Given the description of an element on the screen output the (x, y) to click on. 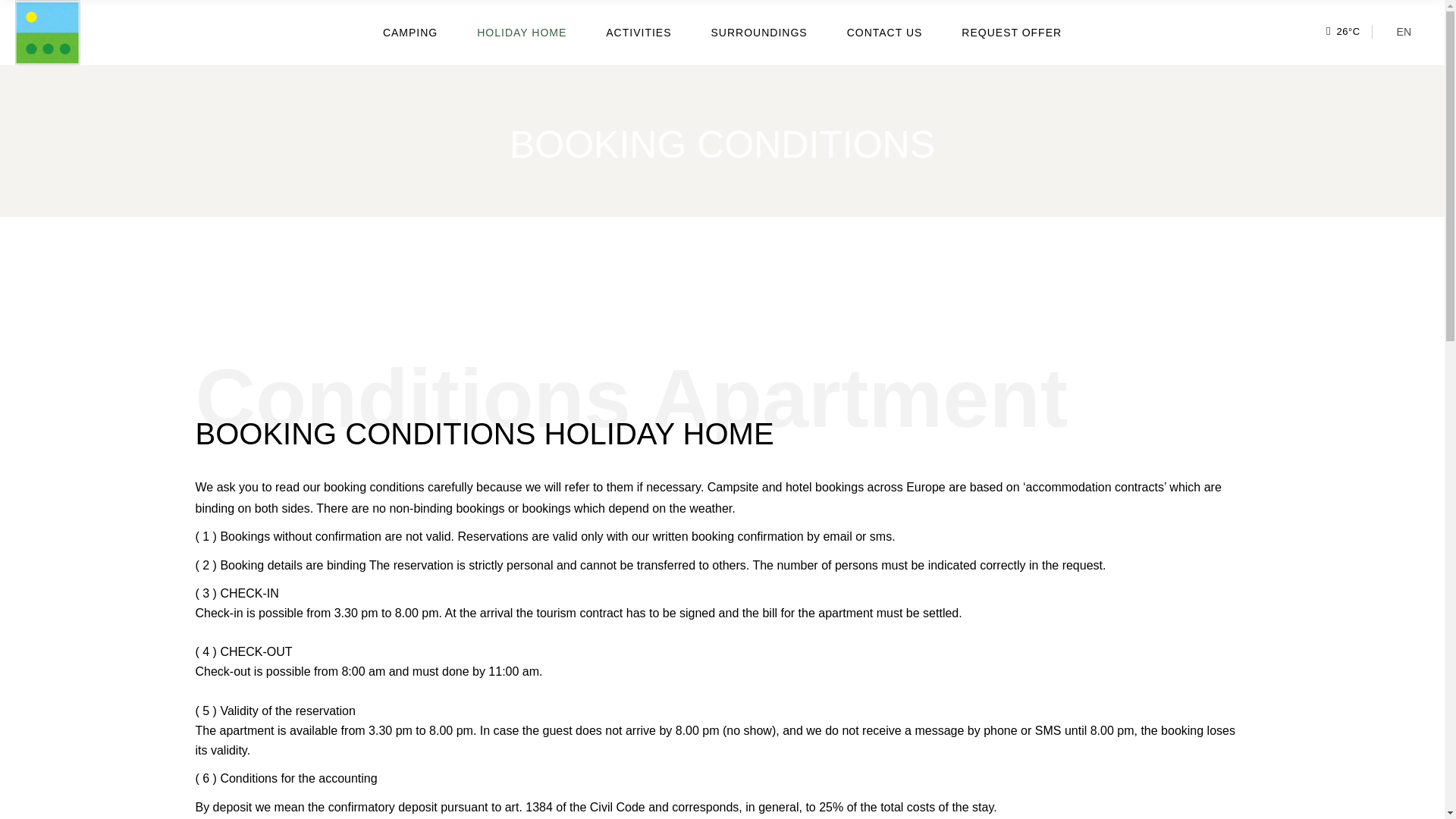
HOLIDAY HOME (521, 32)
CONTACT US (885, 32)
SURROUNDINGS (759, 32)
ACTIVITIES (638, 32)
REQUEST OFFER (1010, 32)
